Given the description of an element on the screen output the (x, y) to click on. 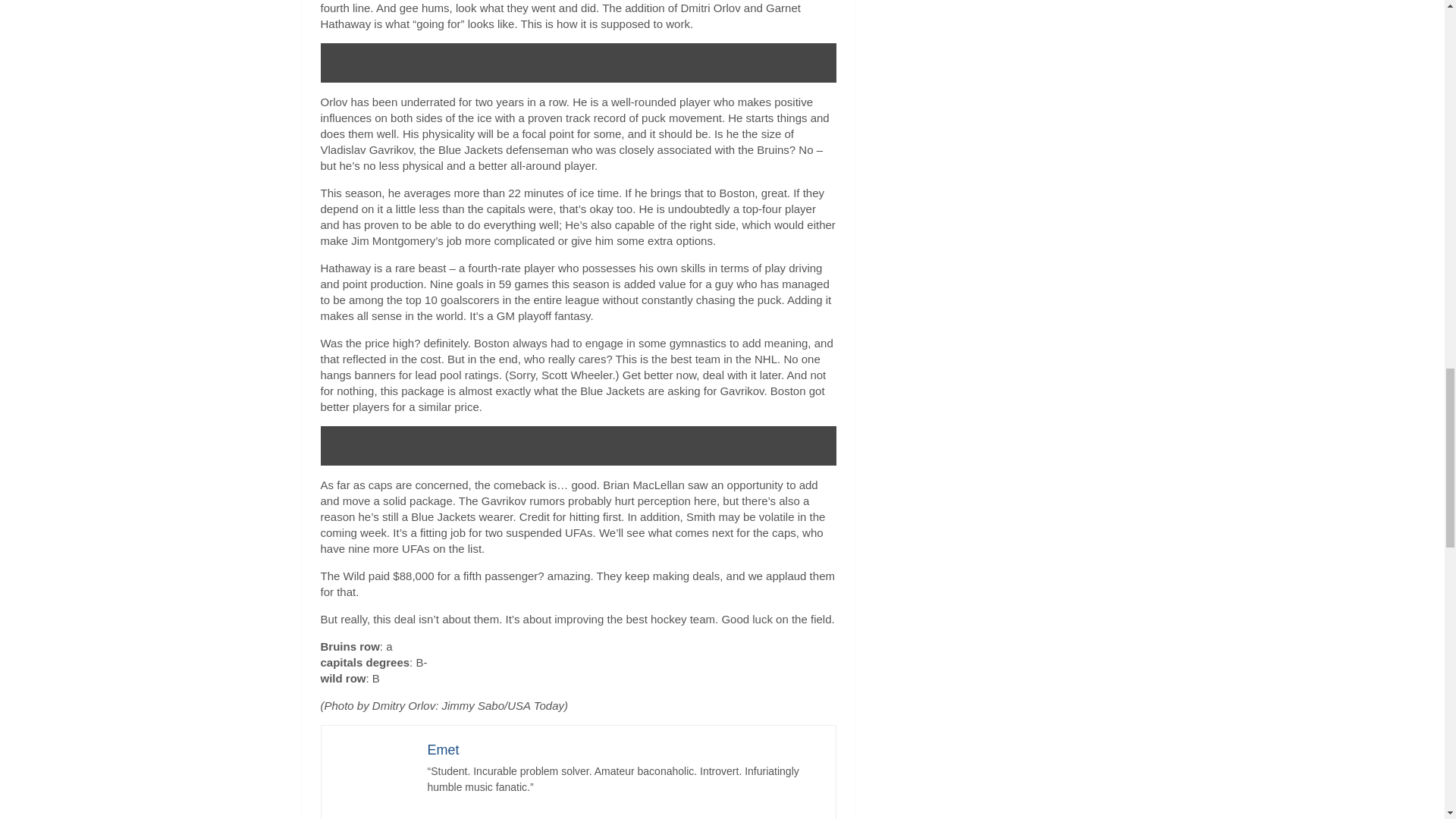
Emet (444, 749)
